Given the description of an element on the screen output the (x, y) to click on. 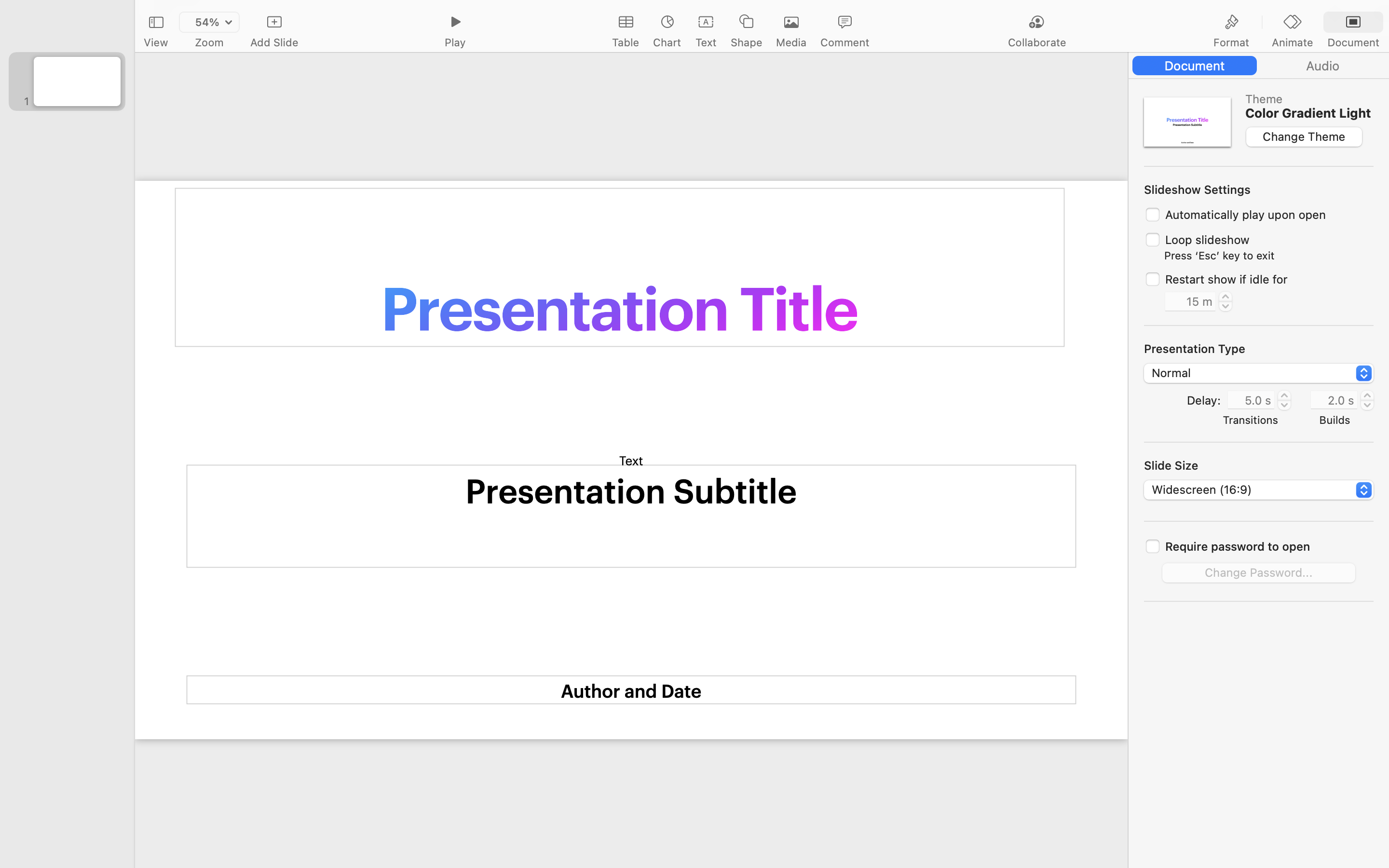
15.0 Element type: AXIncrementor (1225, 300)
View Element type: AXStaticText (155, 42)
<AXUIElement 0x2876f1d40> {pid=1697} Element type: AXRadioGroup (1258, 65)
2.0 s Element type: AXTextField (1333, 398)
Delay: Element type: AXStaticText (1203, 399)
